Given the description of an element on the screen output the (x, y) to click on. 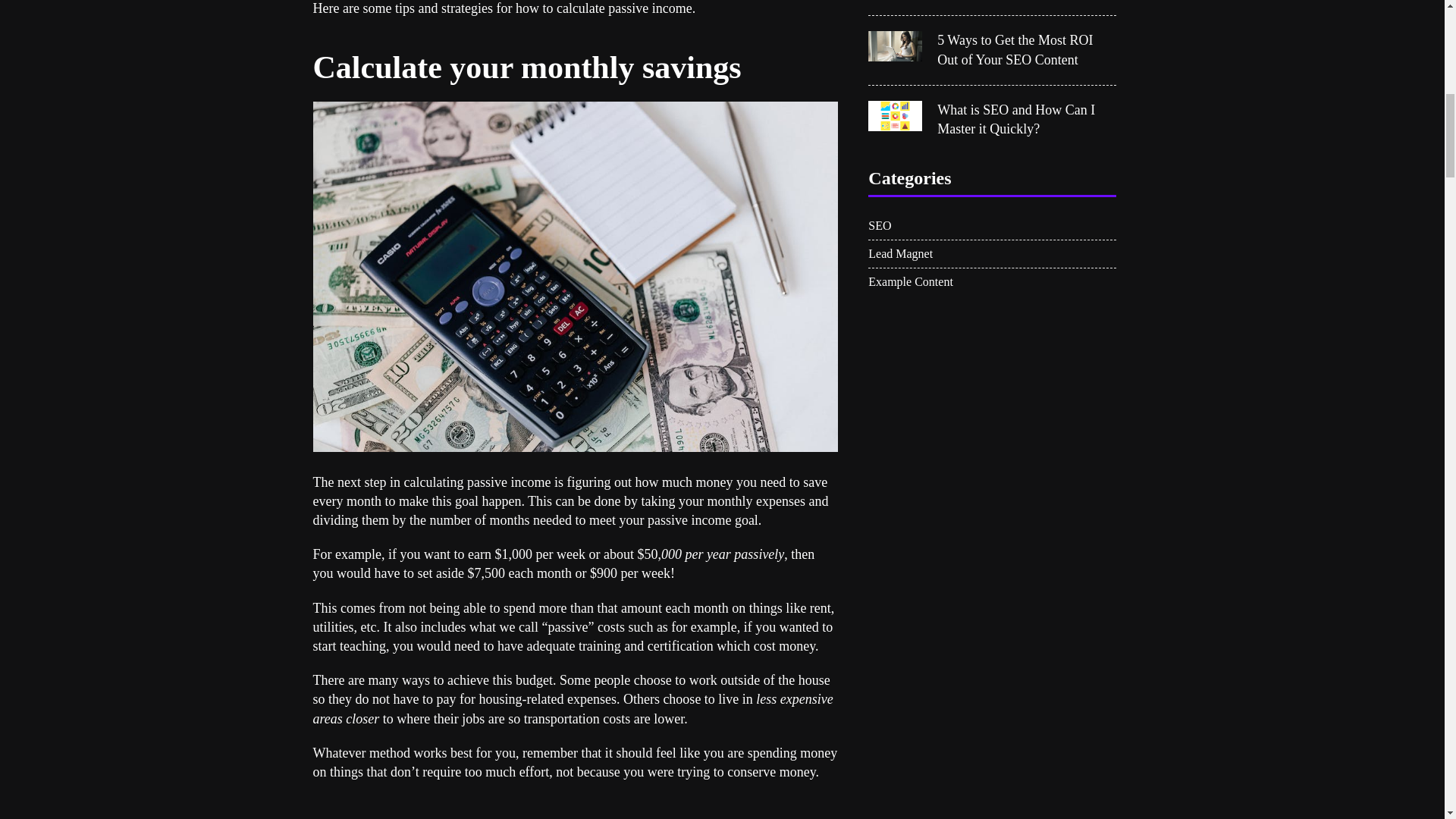
SEO (991, 226)
5 Ways to Get the Most ROI Out of Your SEO Content (1026, 49)
What is SEO and How Can I Master it Quickly? (1026, 119)
Lead Magnet (991, 254)
Example Content (991, 281)
